Given the description of an element on the screen output the (x, y) to click on. 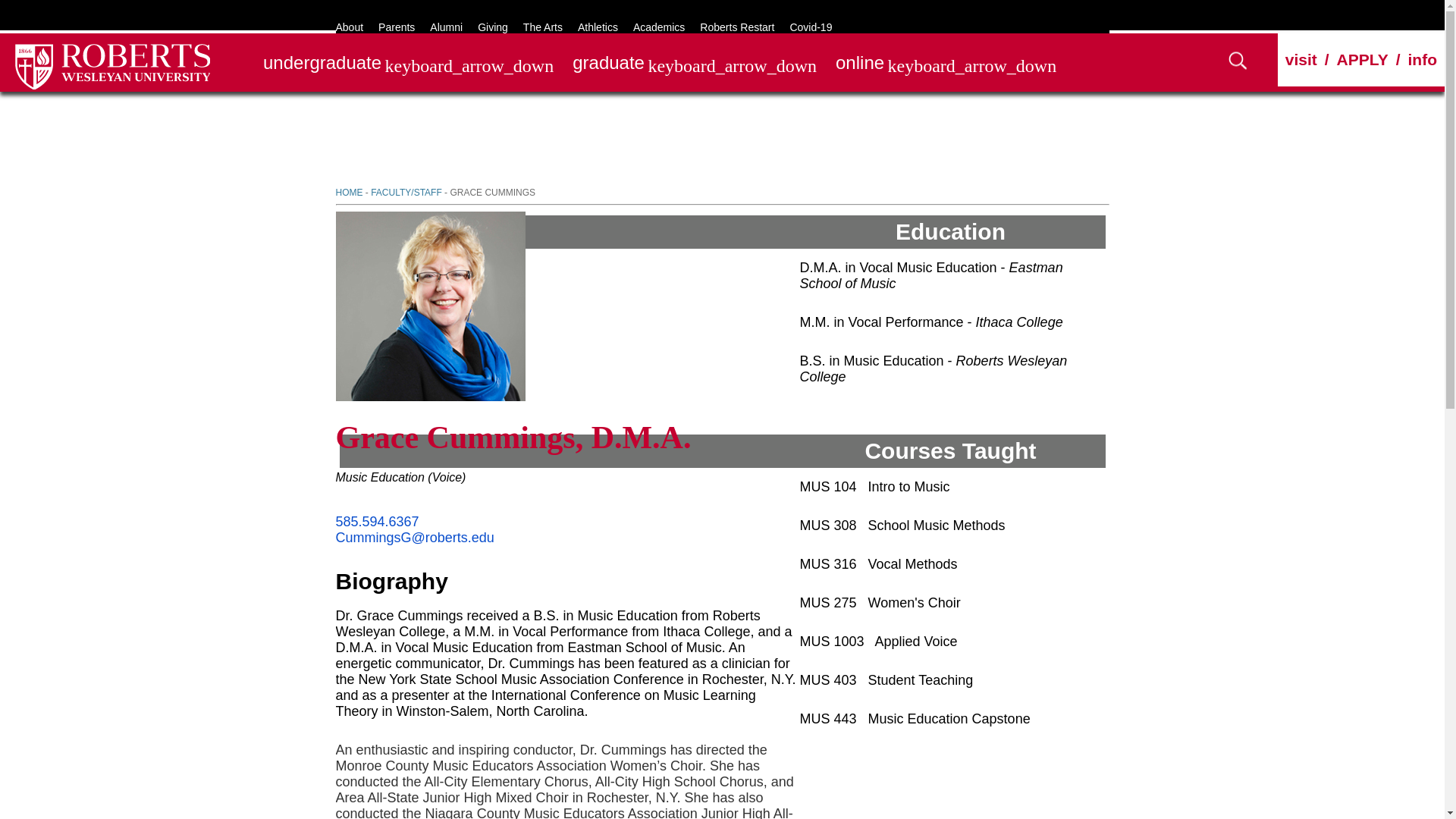
About (348, 27)
Covid-19 (810, 27)
The Arts (542, 27)
Parents (396, 27)
Skip to main content (55, 6)
Academics (658, 27)
Giving (492, 27)
Athletics (597, 27)
Alumni (446, 27)
Roberts Restart (737, 27)
